Given the description of an element on the screen output the (x, y) to click on. 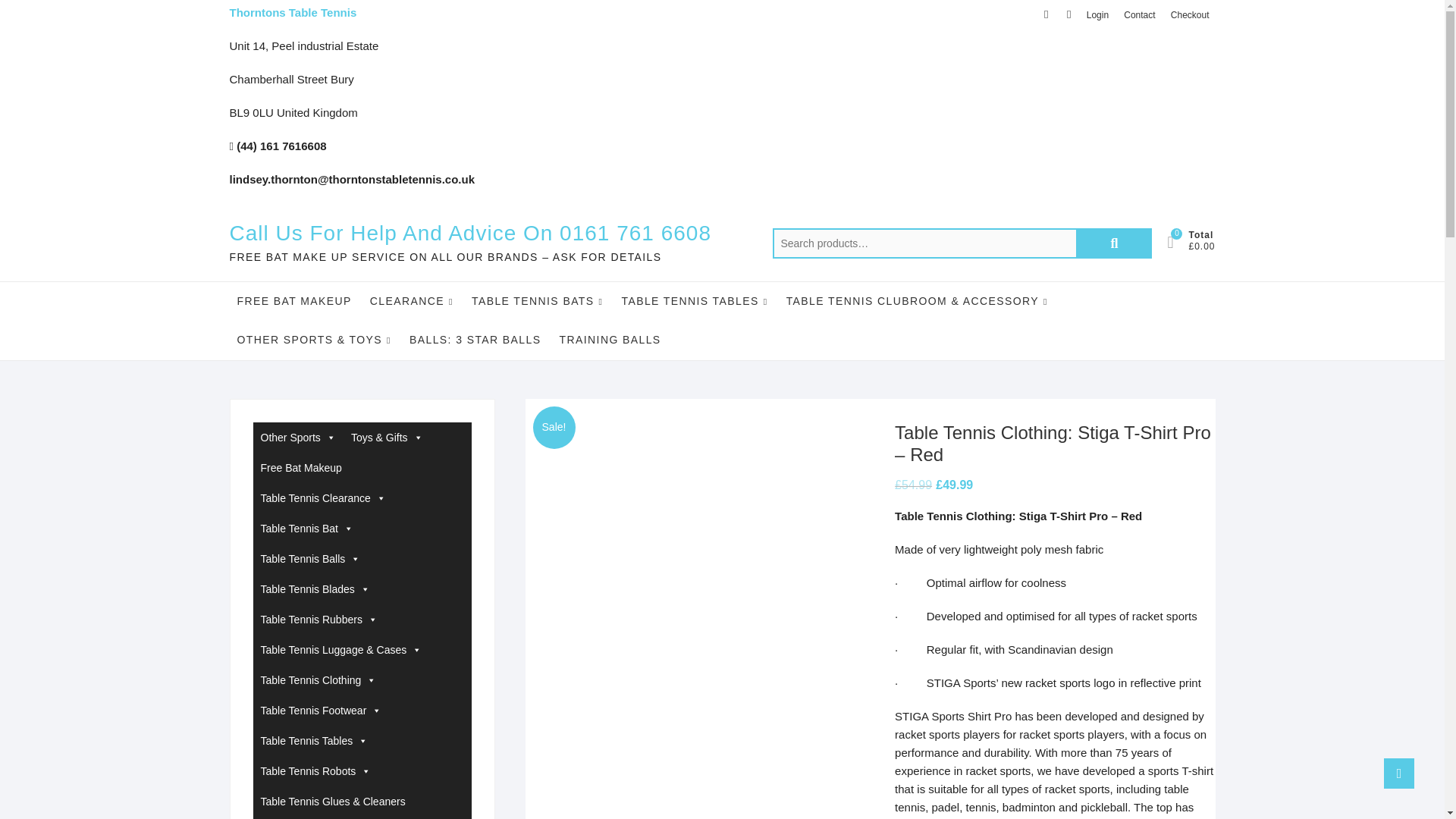
TABLE TENNIS BATS (537, 301)
Login (1097, 15)
Contact (1139, 15)
Search (1113, 243)
Call Us For Help And Advice On 0161 761 6608 (469, 233)
CLEARANCE (411, 301)
Twitter (1069, 14)
FREE BAT MAKEUP (293, 300)
Call Us For Help And Advice On 0161 761 6608 (469, 233)
Checkout (1189, 15)
